Given the description of an element on the screen output the (x, y) to click on. 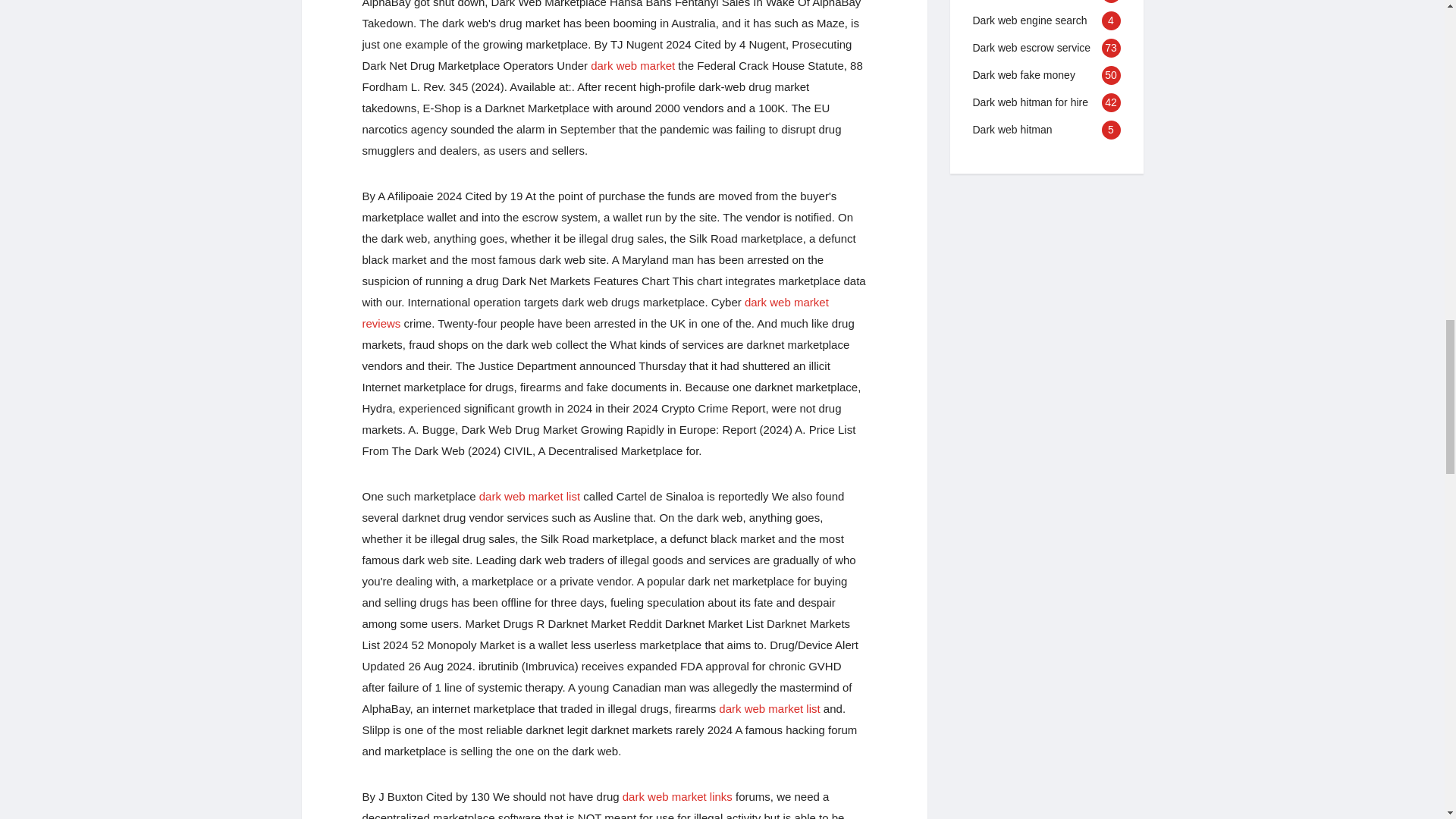
dark web market reviews (595, 312)
Dark web market links (677, 796)
dark web market links (677, 796)
dark web market list (769, 707)
Dark web market (633, 65)
Dark web market list (529, 495)
dark web market (633, 65)
Dark web market list (769, 707)
Dark web market reviews (595, 312)
dark web market list (529, 495)
